Given the description of an element on the screen output the (x, y) to click on. 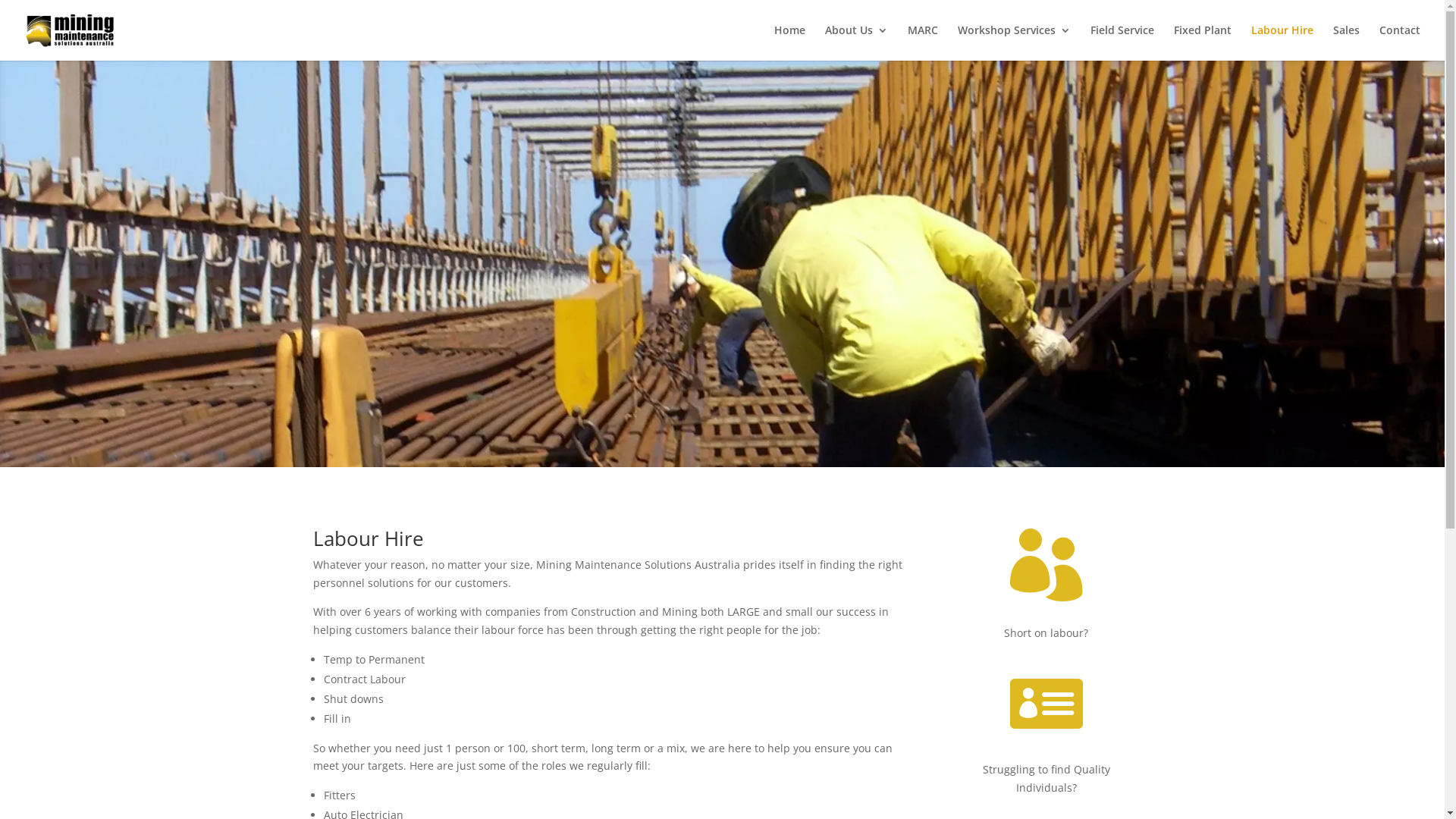
Workshop Services Element type: text (1013, 42)
Contact Element type: text (1399, 42)
Field Service Element type: text (1122, 42)
MARC Element type: text (922, 42)
Fixed Plant Element type: text (1202, 42)
About Us Element type: text (856, 42)
Home Element type: text (789, 42)
Labour Hire Element type: text (1282, 42)
Sales Element type: text (1346, 42)
